Given the description of an element on the screen output the (x, y) to click on. 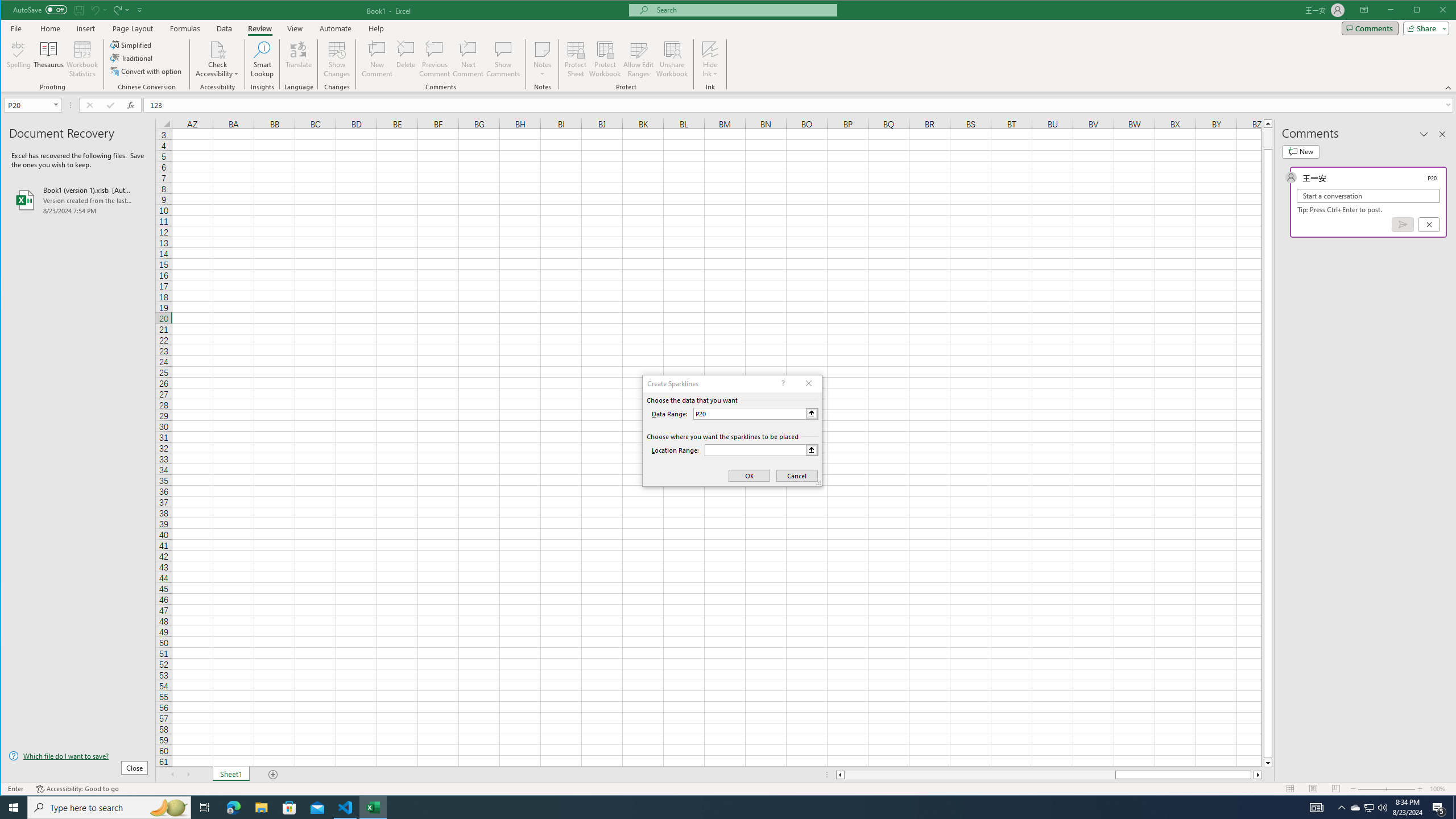
Sheet1 (230, 774)
Home (50, 28)
Line down (1267, 763)
Customize Quick Access Toolbar (140, 9)
Thesaurus... (48, 59)
Help (376, 28)
Scroll Right (188, 774)
File Tab (16, 27)
Microsoft search (742, 10)
Normal (1290, 788)
Hide Ink (710, 48)
Zoom Out (1372, 788)
Smart Lookup (261, 59)
